Given the description of an element on the screen output the (x, y) to click on. 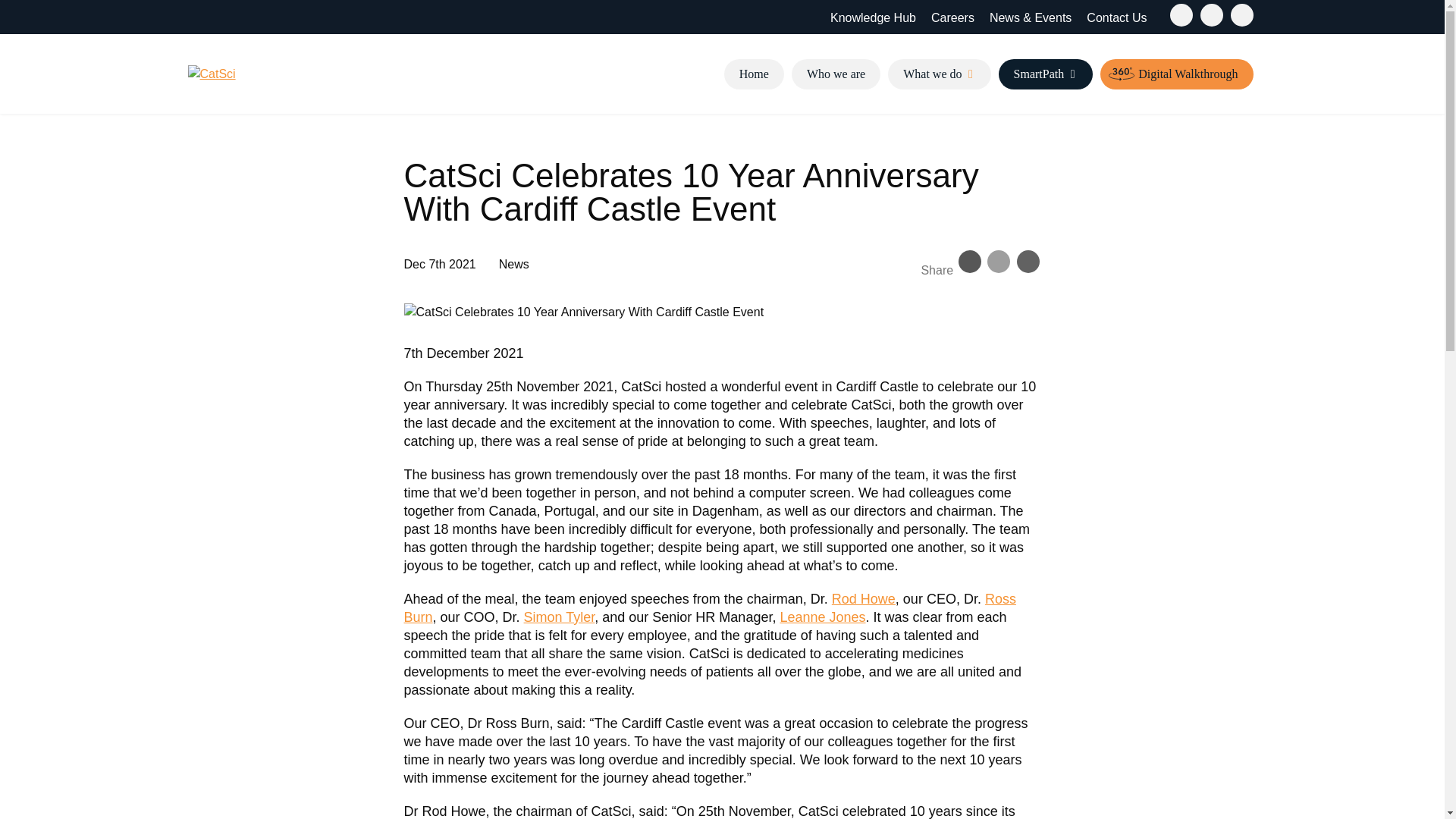
CatSci Twitter (1180, 15)
SmartPath (1045, 73)
Simon Tyler (559, 616)
Contact Us (1116, 18)
Knowledge Hub (873, 18)
Rod Howe (863, 598)
Share on LinkedIn (1027, 261)
Home (753, 73)
Share on Twitter (998, 261)
Share on Facebook (969, 261)
CatSci (211, 74)
CatSci LinkedIn (1211, 15)
Ross Burn (708, 607)
What we do (939, 73)
